Given the description of an element on the screen output the (x, y) to click on. 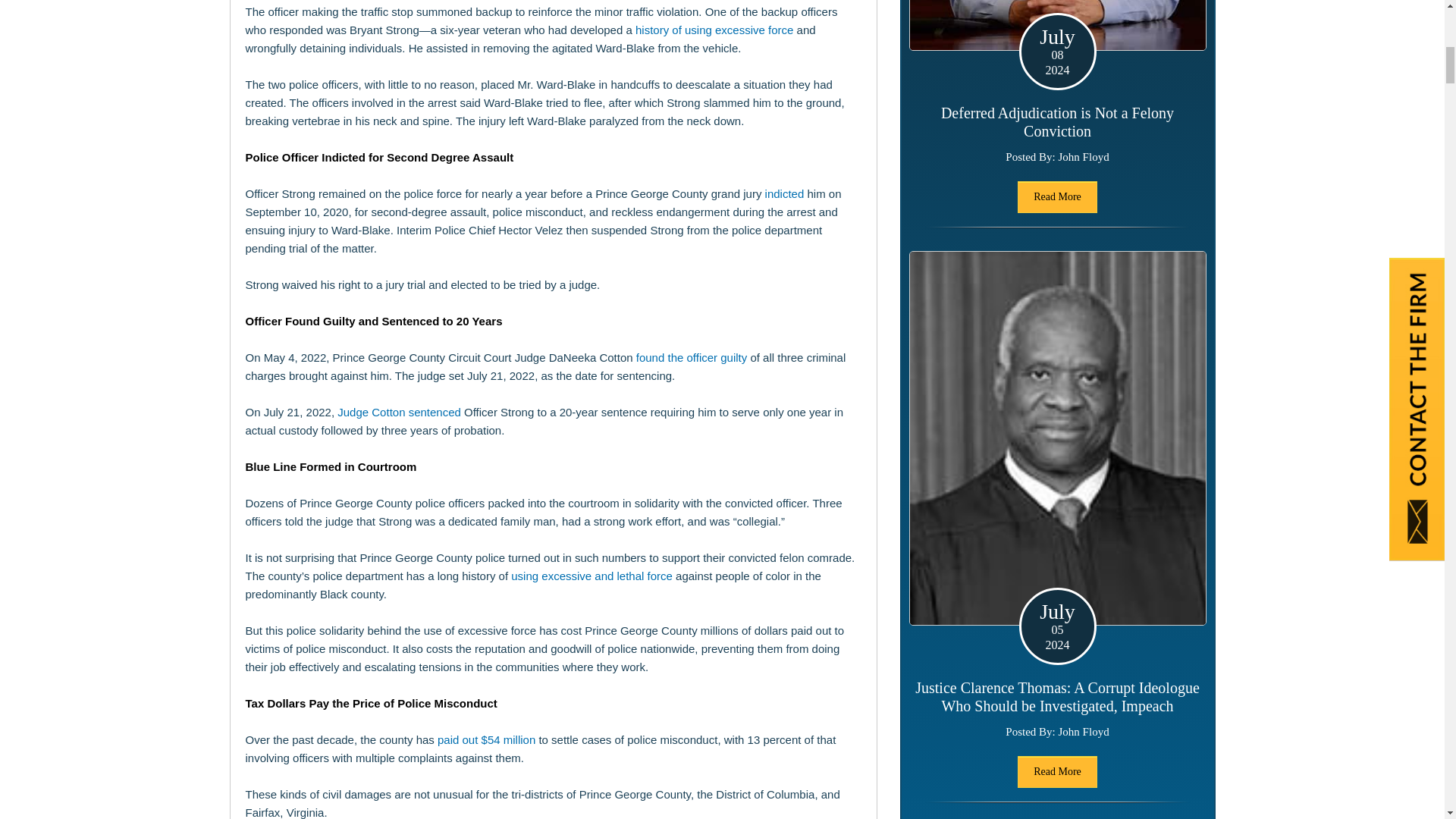
Posts by John Floyd (1083, 731)
Posts by John Floyd (1083, 156)
